Given the description of an element on the screen output the (x, y) to click on. 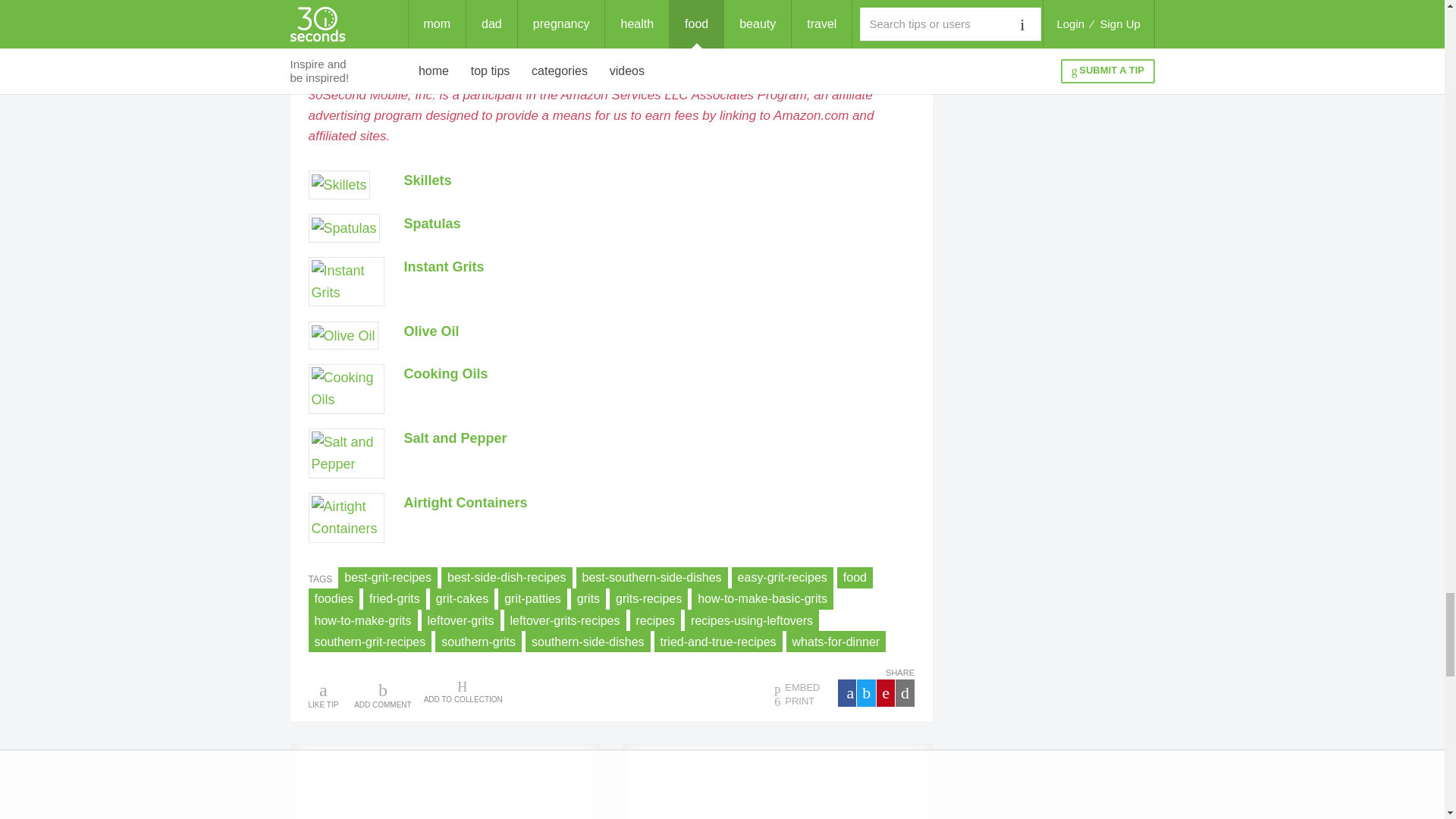
ADD COMMENT (382, 694)
